Given the description of an element on the screen output the (x, y) to click on. 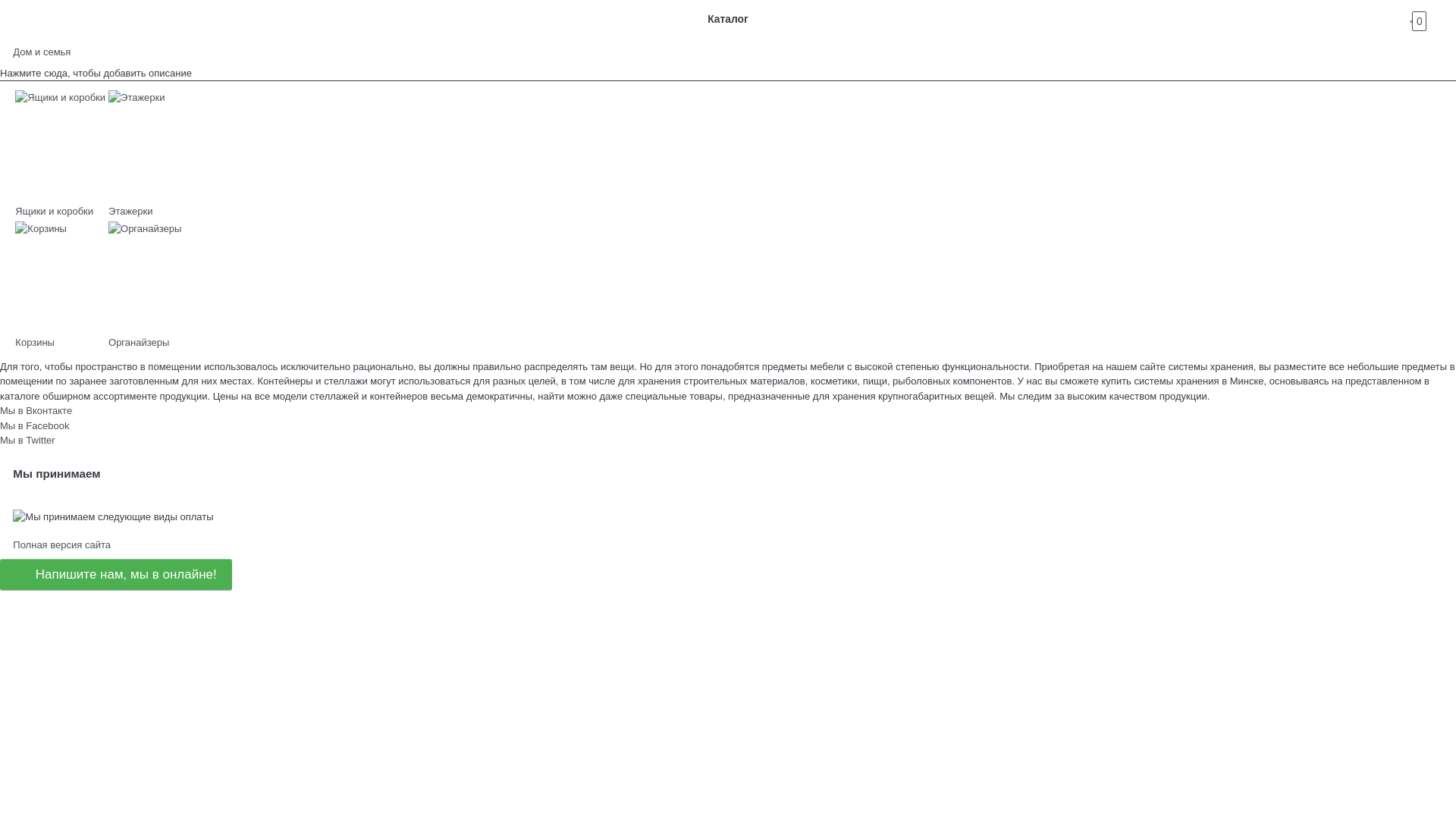
0 Element type: text (1432, 18)
